Given the description of an element on the screen output the (x, y) to click on. 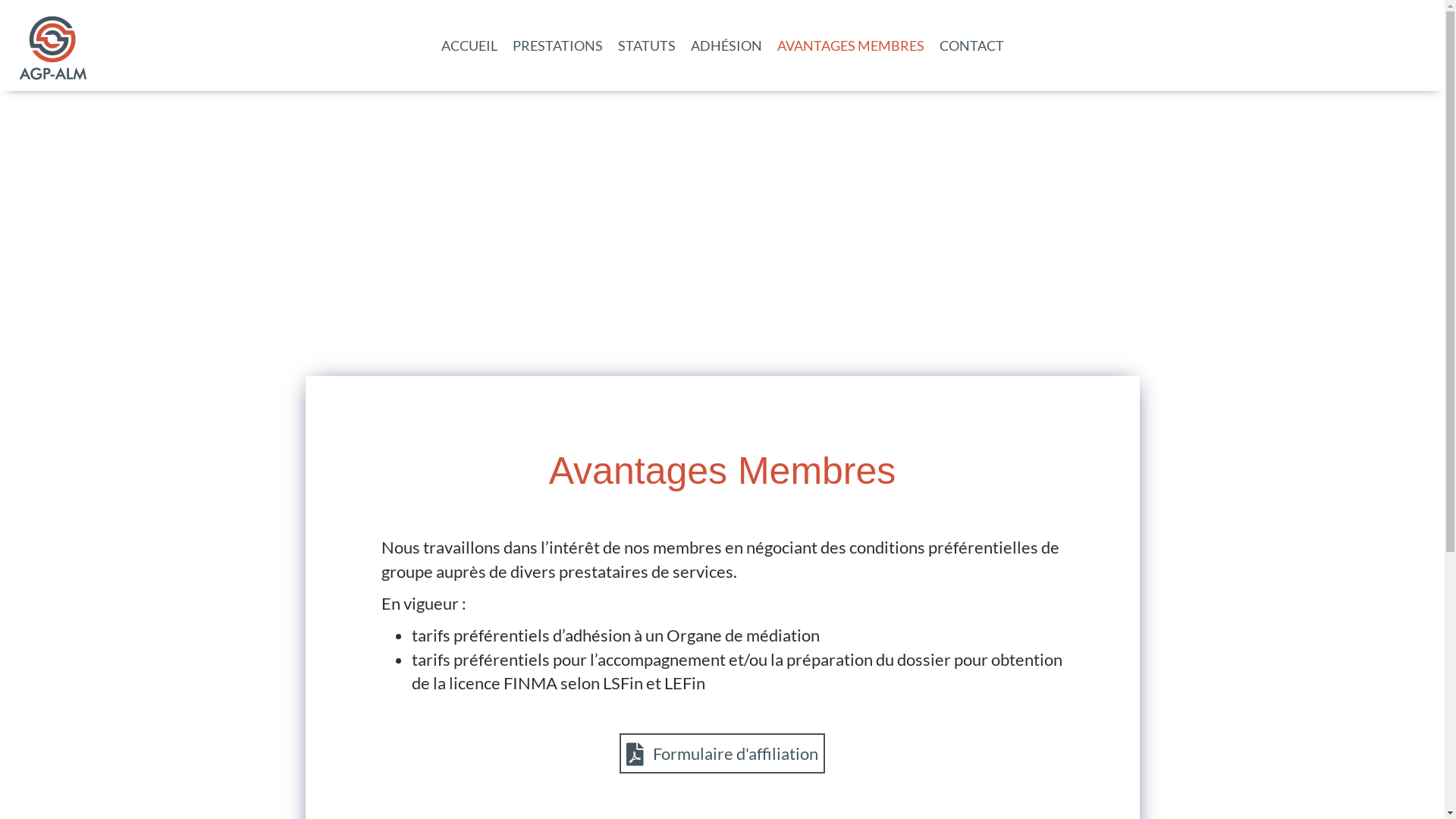
CONTACT Element type: text (970, 45)
Formulaire d'affiliation Element type: text (722, 752)
STATUTS Element type: text (645, 45)
ACCUEIL Element type: text (469, 45)
PRESTATIONS Element type: text (557, 45)
AVANTAGES MEMBRES Element type: text (849, 45)
Logo-AGP-ALM-100 Element type: hover (52, 45)
